Given the description of an element on the screen output the (x, y) to click on. 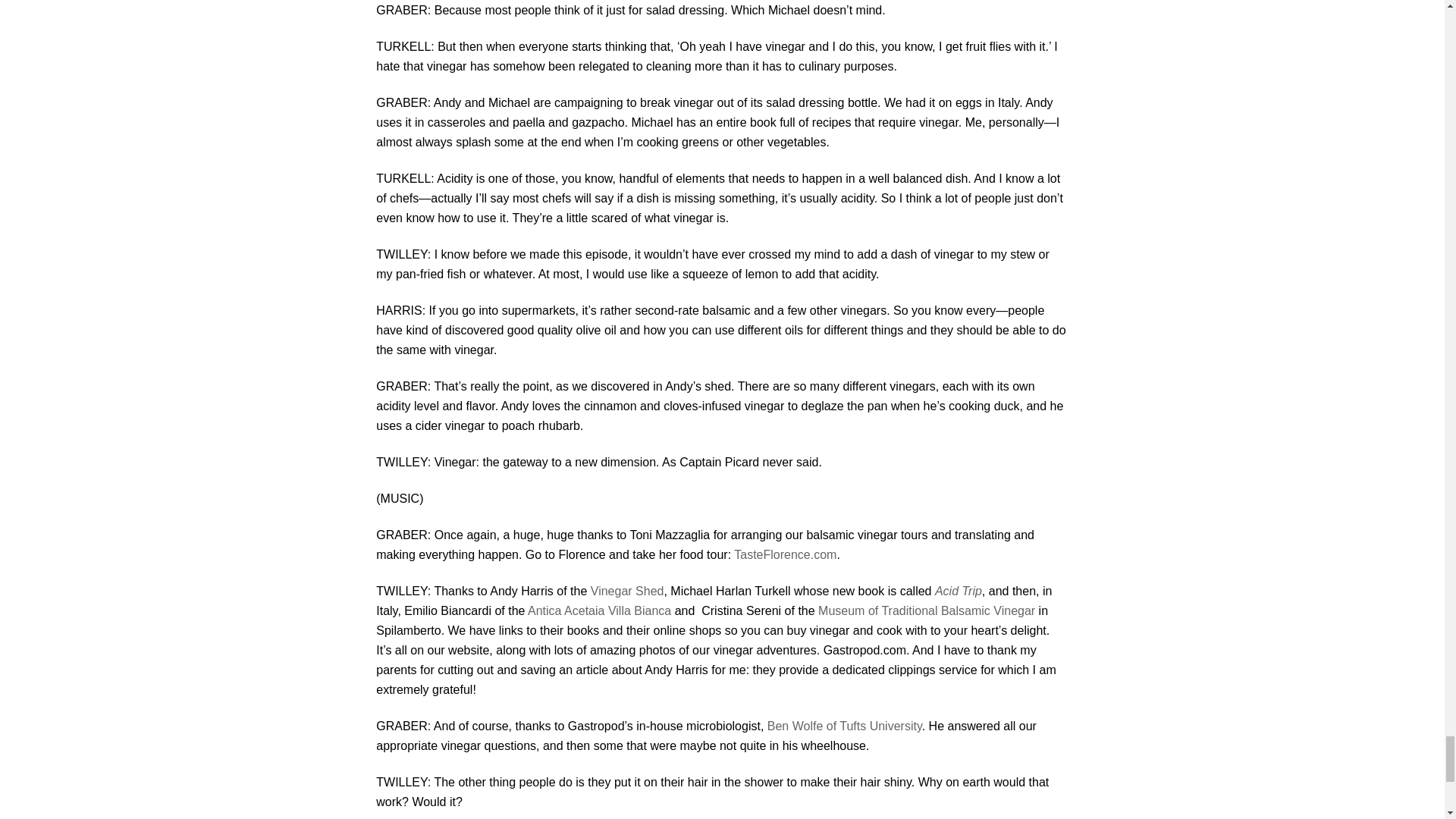
Vinegar Shed (627, 590)
Ben Wolfe of Tufts University (844, 725)
Acid Trip (957, 590)
TasteFlorence.com (784, 554)
Museum of Traditional Balsamic Vinegar (926, 610)
Antica Acetaia Villa Bianca (599, 610)
